Given the description of an element on the screen output the (x, y) to click on. 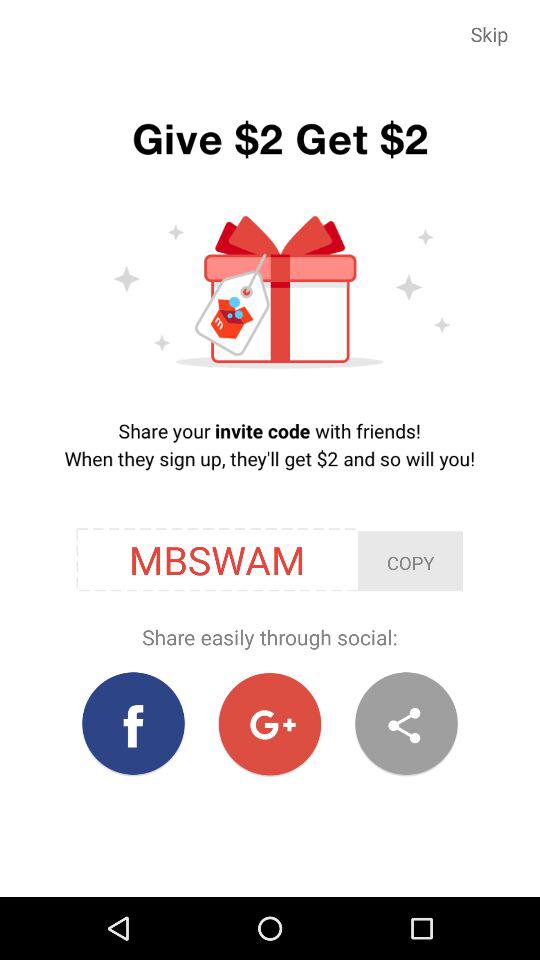
share invite code (406, 724)
